Given the description of an element on the screen output the (x, y) to click on. 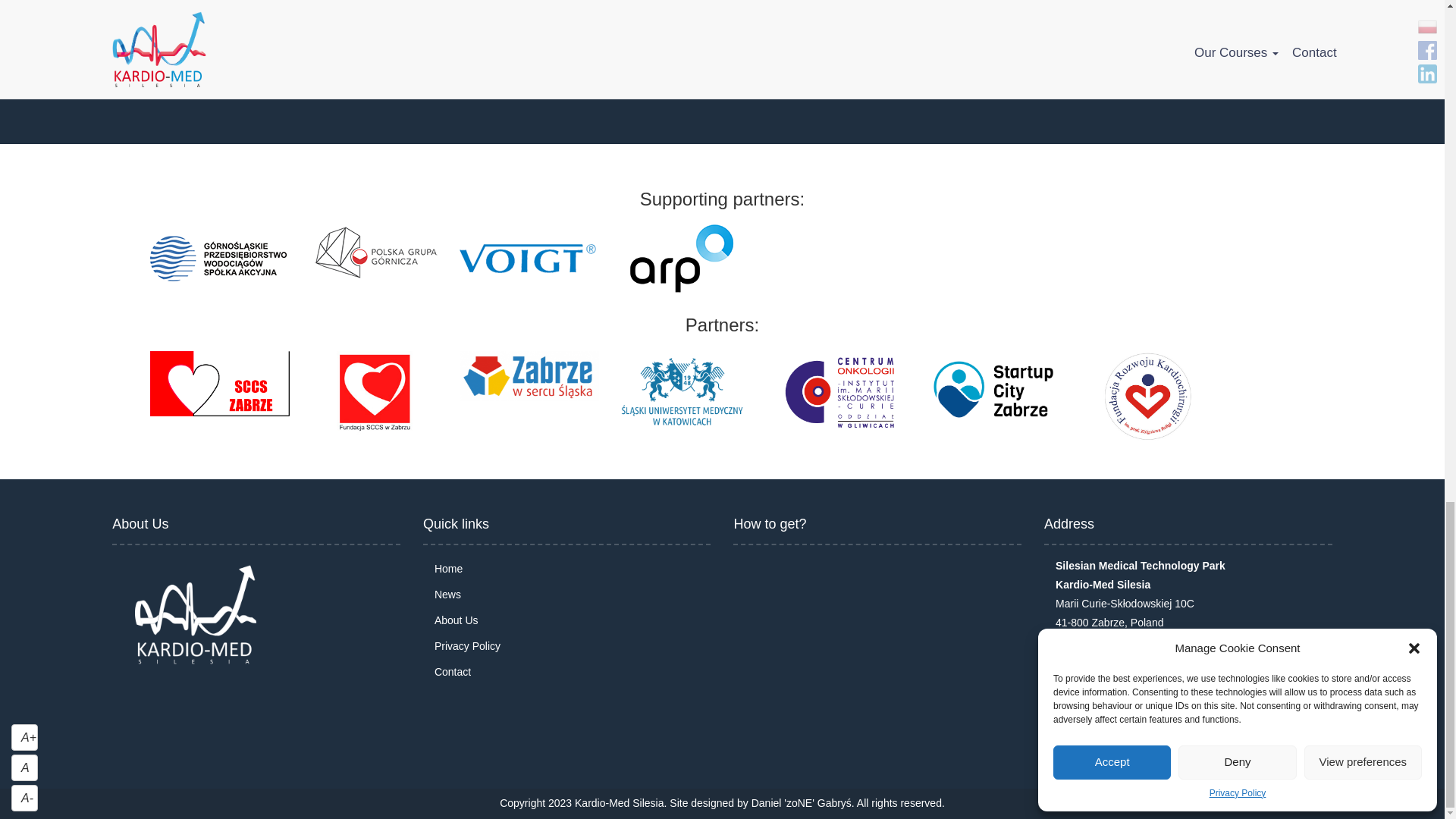
News (447, 595)
About Us (456, 620)
Privacy Policy (386, 5)
Home (448, 569)
Terms of Service (481, 5)
Numer telefonu (1066, 661)
Contact (451, 672)
1 (116, 28)
Privacy Policy (466, 646)
here (427, 67)
